Given the description of an element on the screen output the (x, y) to click on. 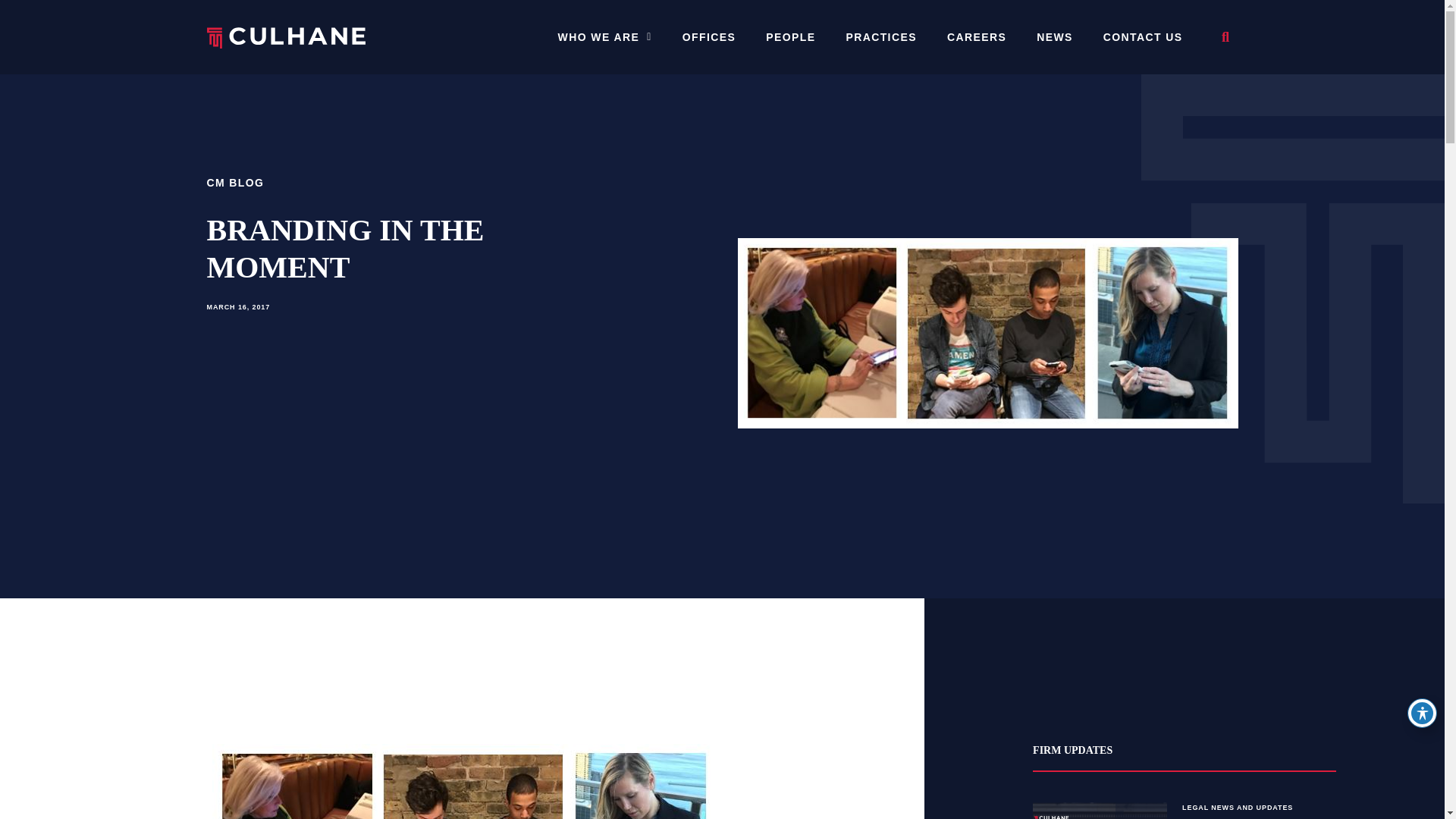
PRACTICES (880, 37)
CONTACT US (1142, 37)
OFFICES (708, 37)
CAREERS (976, 37)
PEOPLE (790, 37)
WHO WE ARE (604, 37)
NEWS (1054, 37)
